Given the description of an element on the screen output the (x, y) to click on. 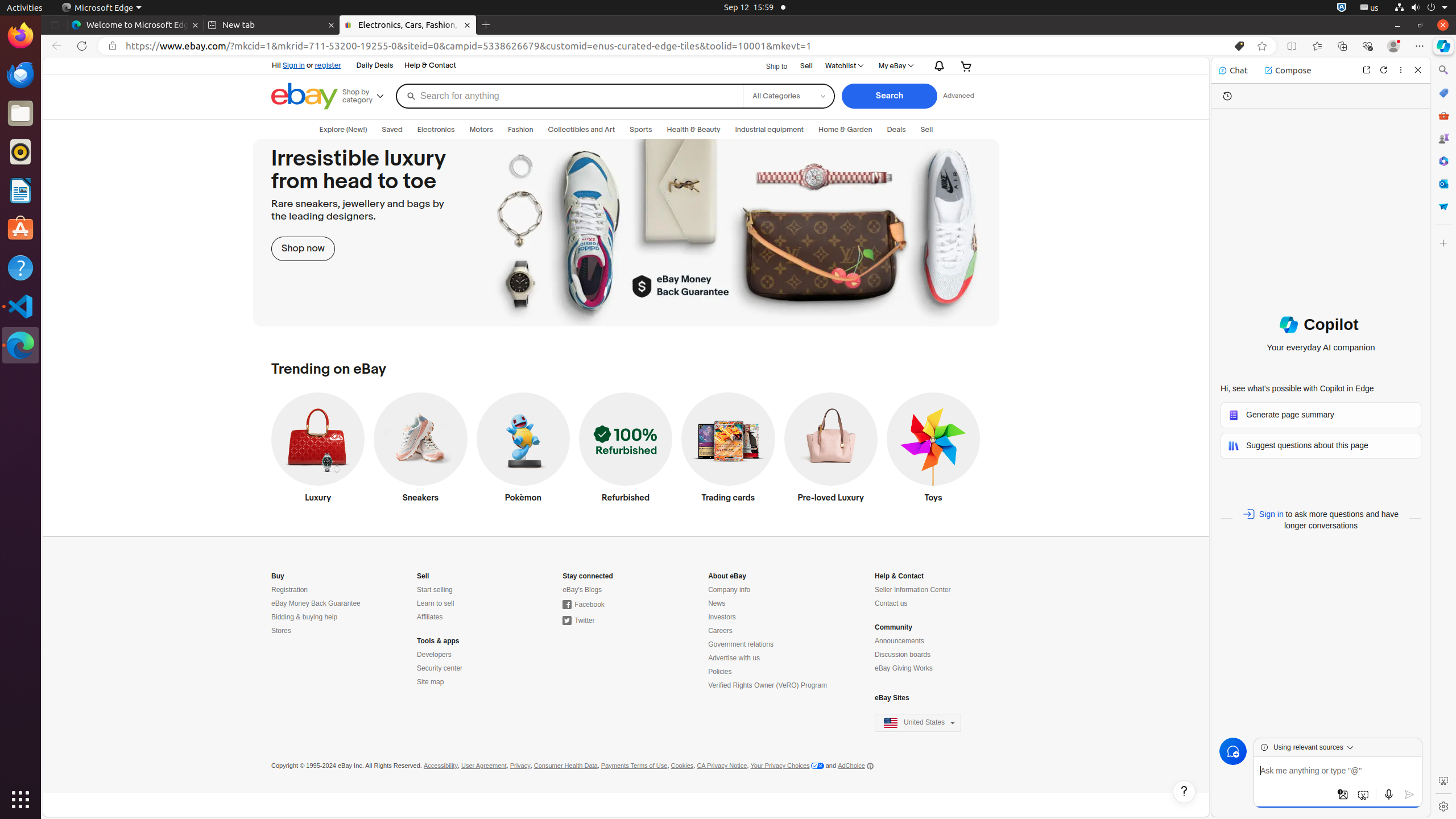
System Element type: menu (1420, 7)
Search for anything Element type: combo-box (568, 95)
Fashion Element type: link (520, 129)
Advertise with us Element type: link (733, 658)
eBay sites,United States Element type: push-button (917, 722)
